Given the description of an element on the screen output the (x, y) to click on. 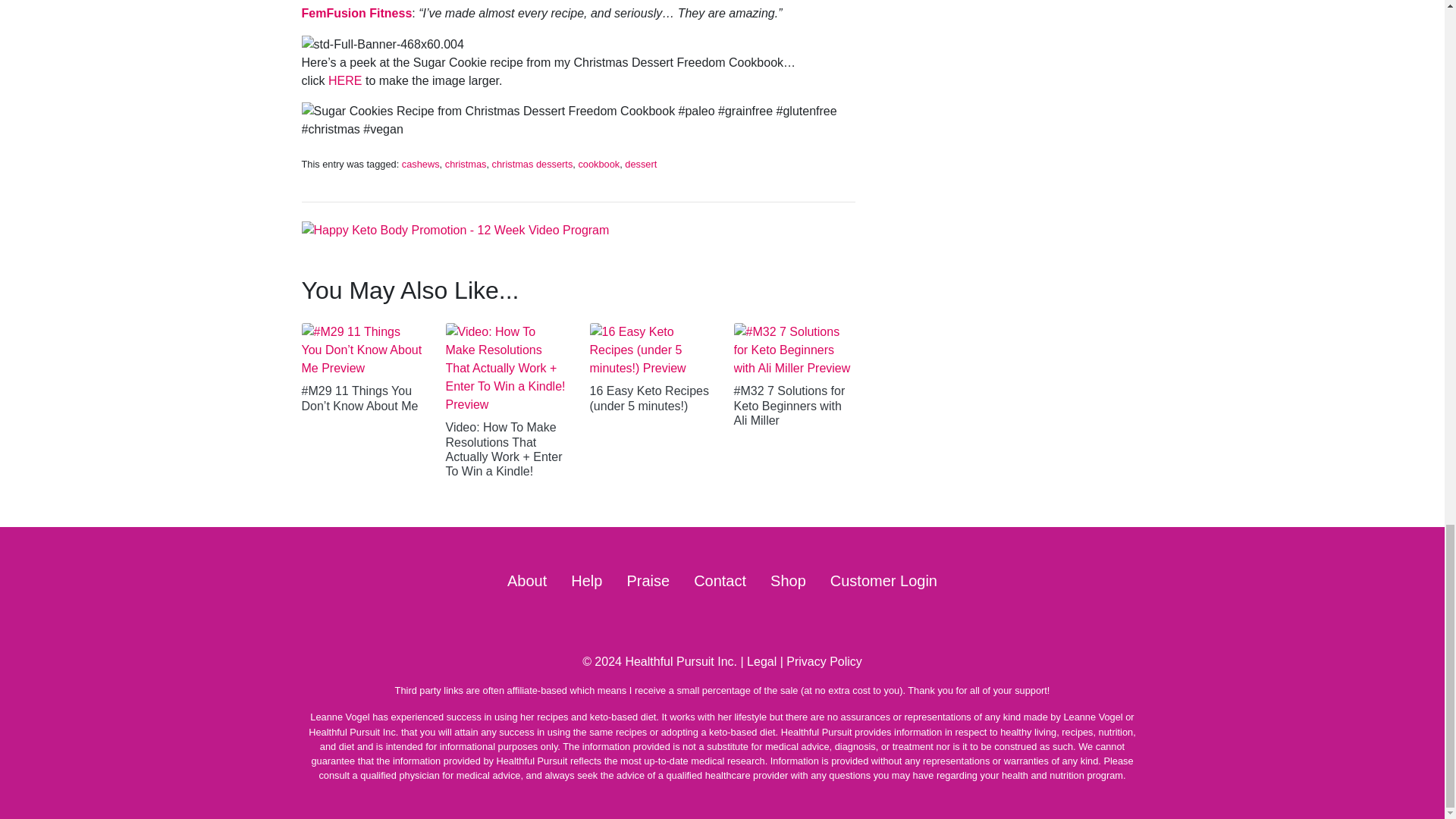
christmas (465, 163)
cashews (420, 163)
cookbook (599, 163)
FemFusion Fitness (356, 12)
HERE (345, 80)
dessert (640, 163)
christmas desserts (532, 163)
